Given the description of an element on the screen output the (x, y) to click on. 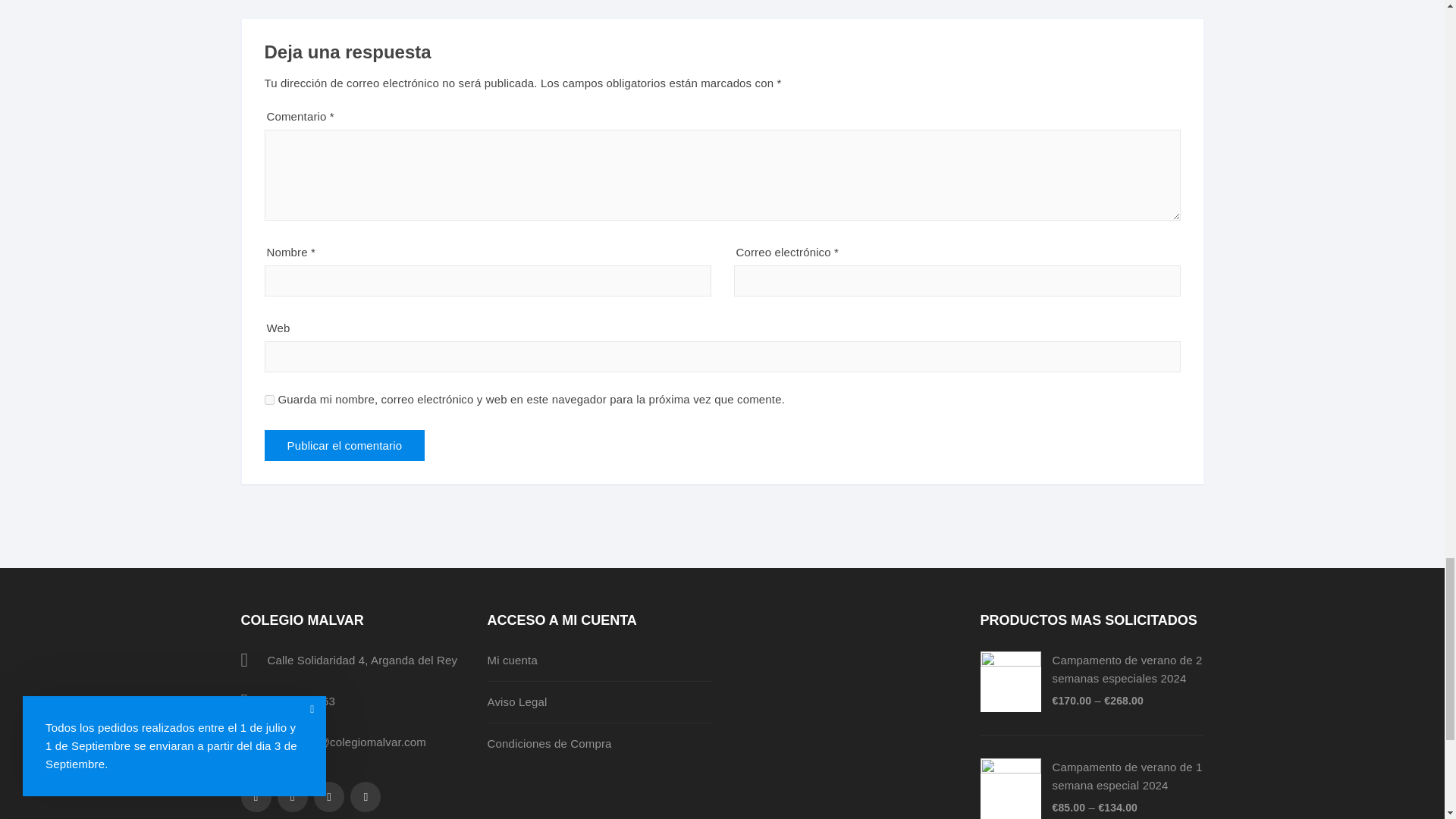
Publicar el comentario (344, 445)
yes (268, 399)
Publicar el comentario (344, 445)
